Given the description of an element on the screen output the (x, y) to click on. 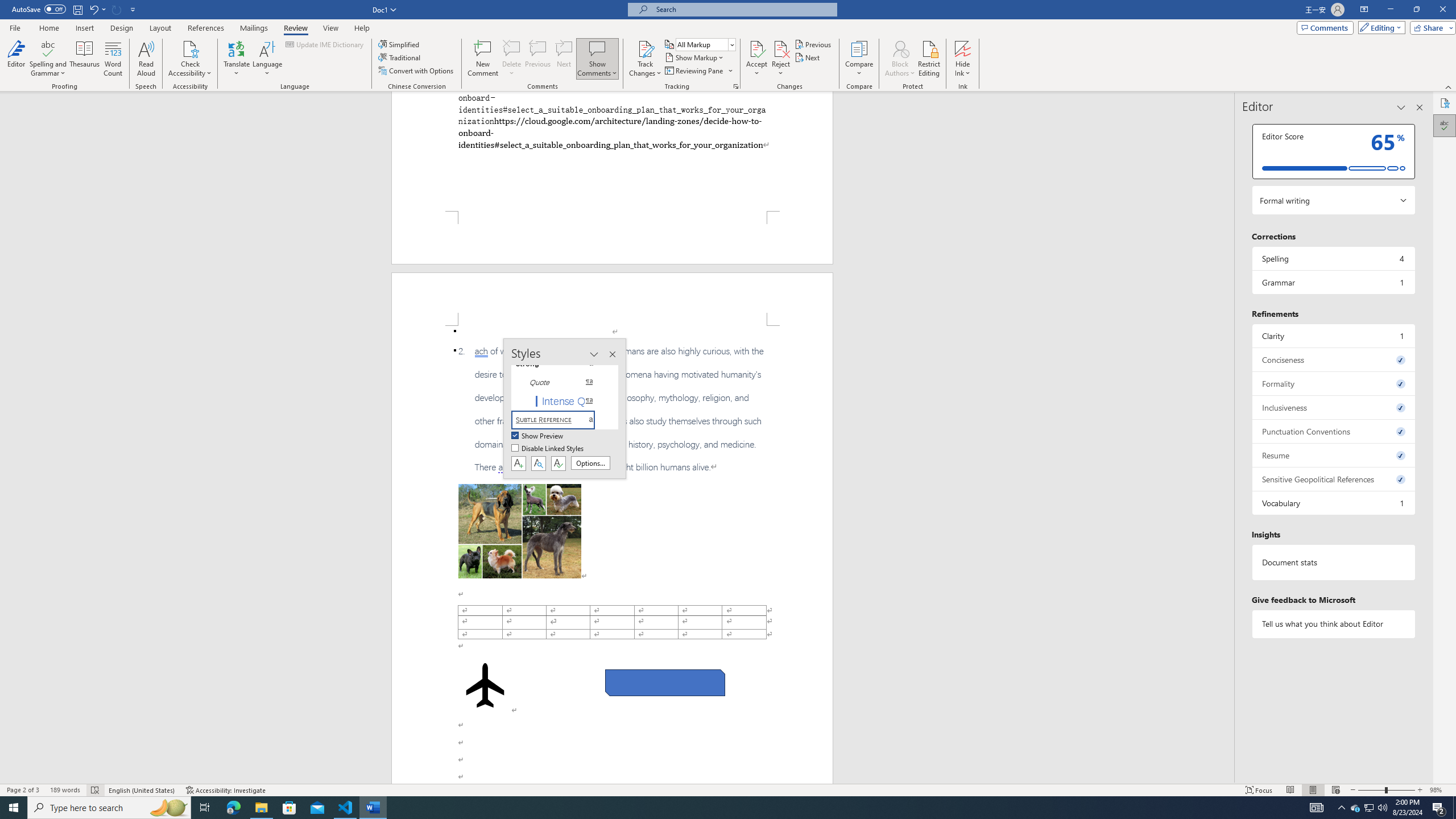
Update IME Dictionary... (324, 44)
Compare (859, 58)
Show Comments (597, 58)
Previous (813, 44)
Vocabulary, 1 issue. Press space or enter to review items. (1333, 502)
Simplified (400, 44)
Quote (559, 382)
Conciseness, 0 issues. Press space or enter to review items. (1333, 359)
